Given the description of an element on the screen output the (x, y) to click on. 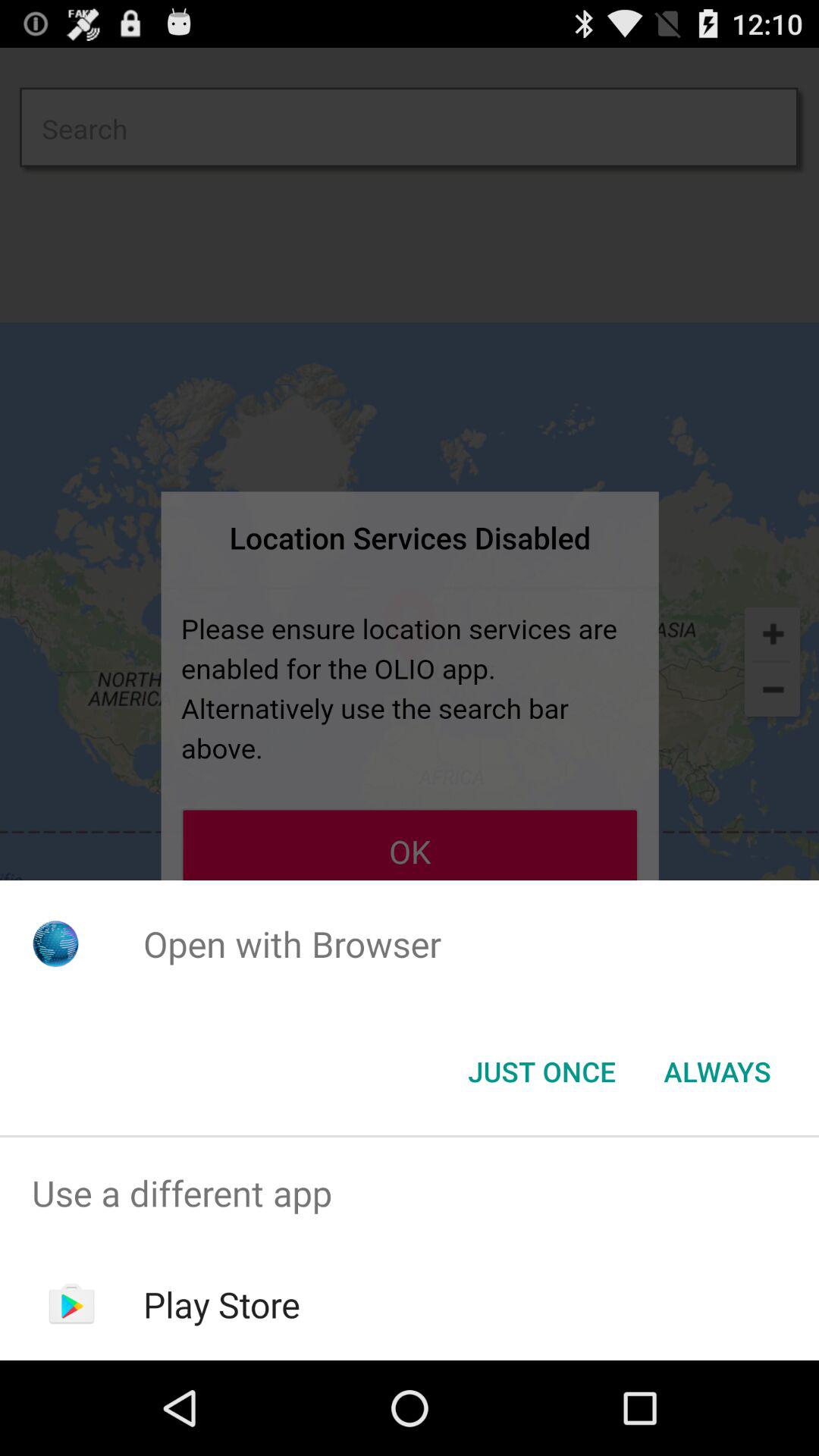
swipe until the always (717, 1071)
